Given the description of an element on the screen output the (x, y) to click on. 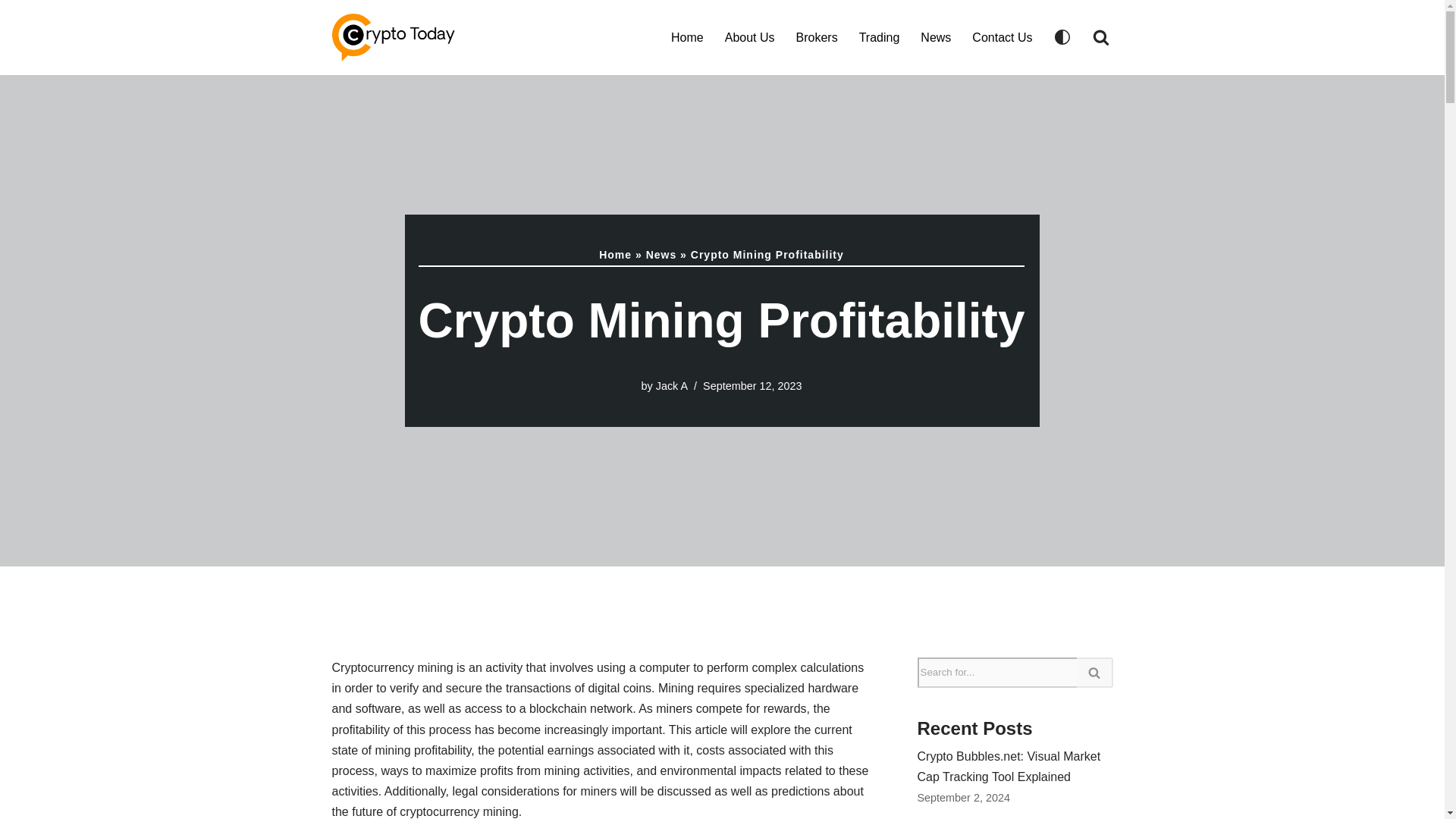
Jack A (671, 386)
Home (614, 254)
Home (687, 37)
News (661, 254)
About Us (749, 37)
Contact Us (1002, 37)
Skip to content (11, 31)
Trading (879, 37)
Brokers (817, 37)
